Given the description of an element on the screen output the (x, y) to click on. 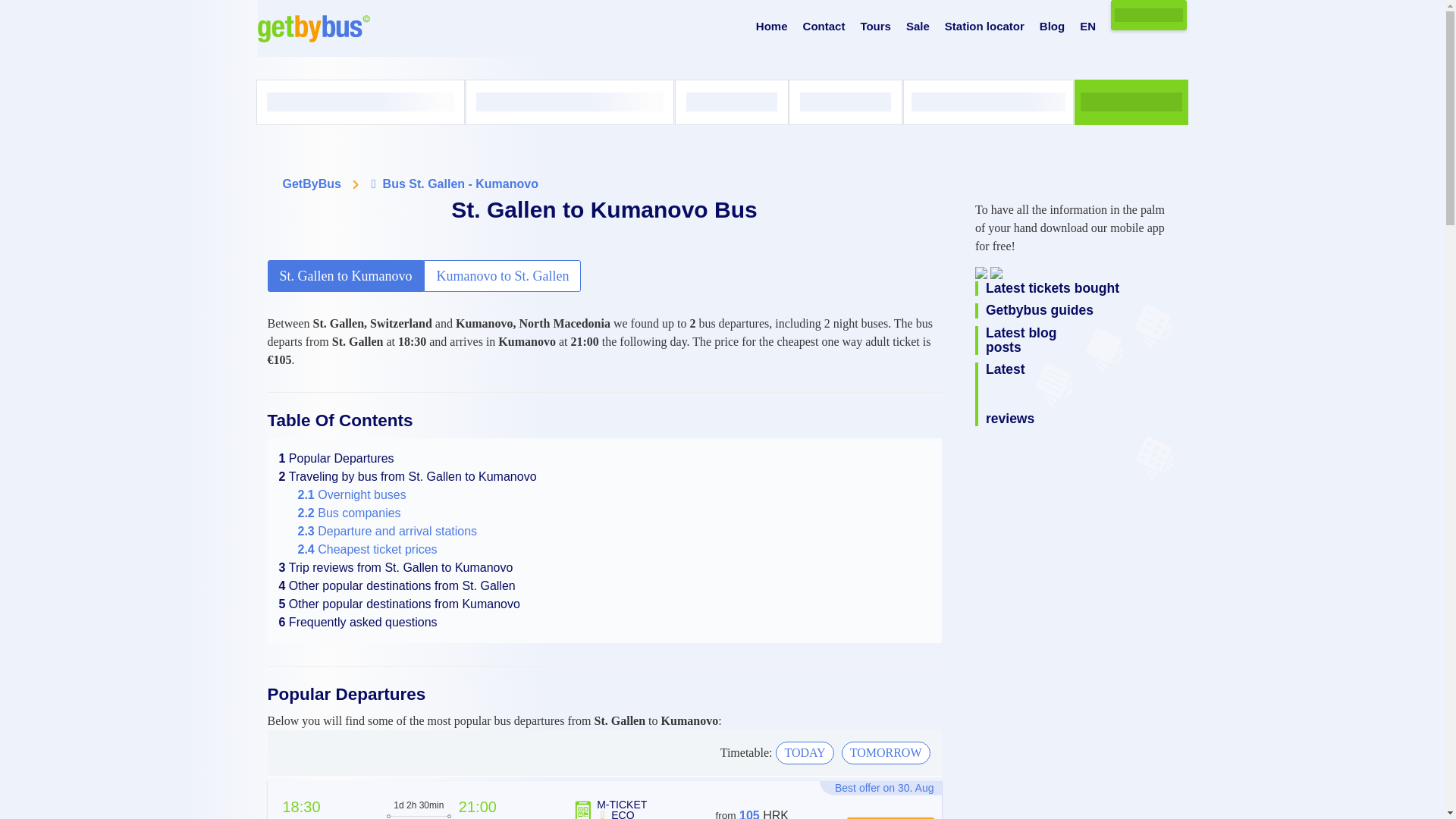
 GetByBus (311, 183)
Popular Departures (336, 458)
Station locator (984, 26)
Overnight buses (351, 494)
Other popular destinations from Kumanovo (399, 603)
Bus companies (348, 512)
Trip reviews from St. Gallen to Kumanovo (396, 567)
GetByBus (311, 183)
Kumanovo to St. Gallen (501, 275)
Cheapest ticket prices (366, 549)
